Given the description of an element on the screen output the (x, y) to click on. 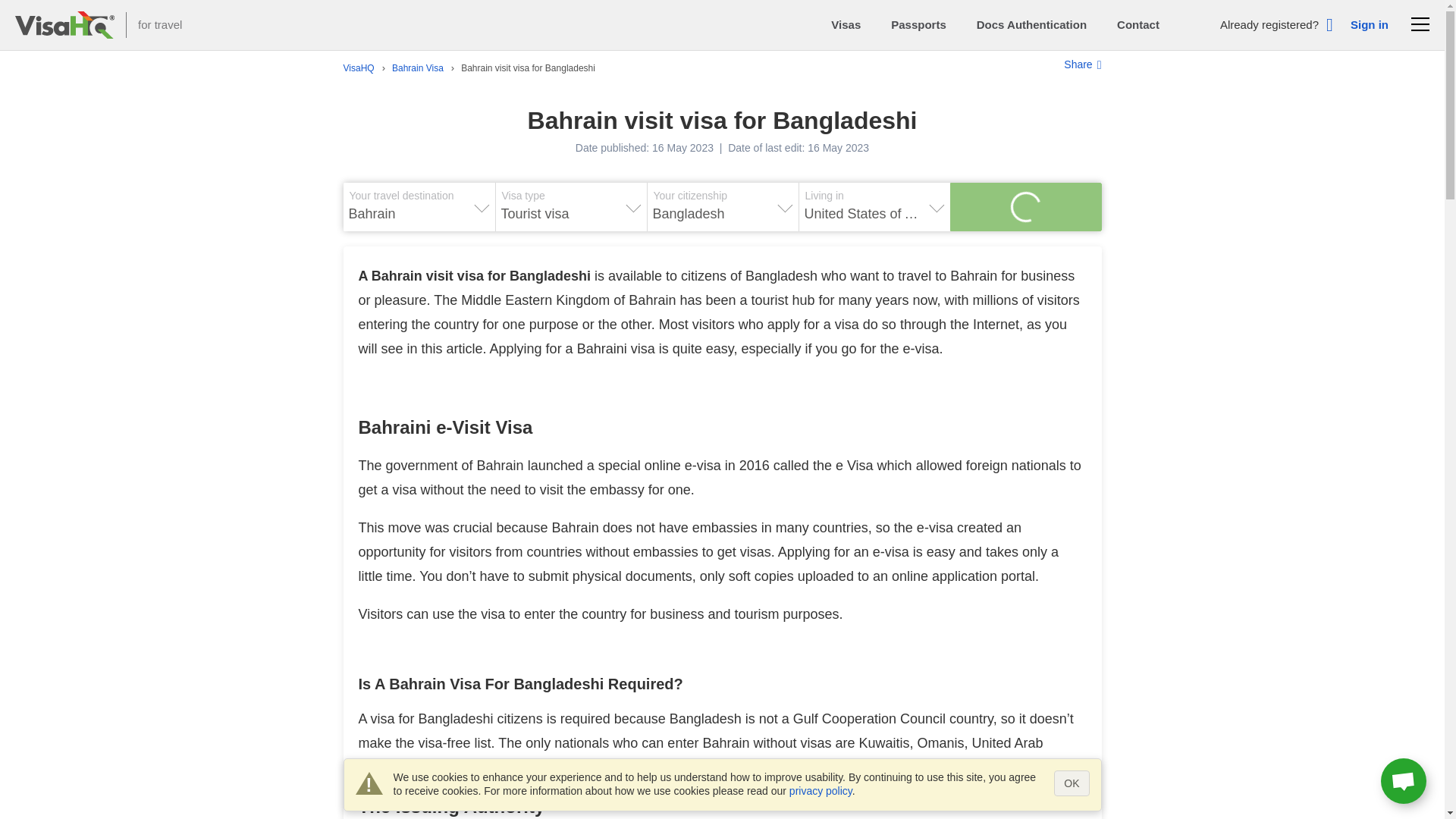
Bahrain (419, 213)
Passports (918, 24)
VisaHQ (358, 69)
Docs Authentication (1031, 24)
Bangladesh (722, 213)
Passport and Visa Services (64, 24)
United States of America (873, 213)
Visas (845, 24)
Visas (845, 24)
Docs Authentication (1031, 24)
Tourist visa (570, 213)
Contact (1137, 24)
Contact (1137, 24)
Passports (918, 24)
Apply for Visa (1024, 206)
